Given the description of an element on the screen output the (x, y) to click on. 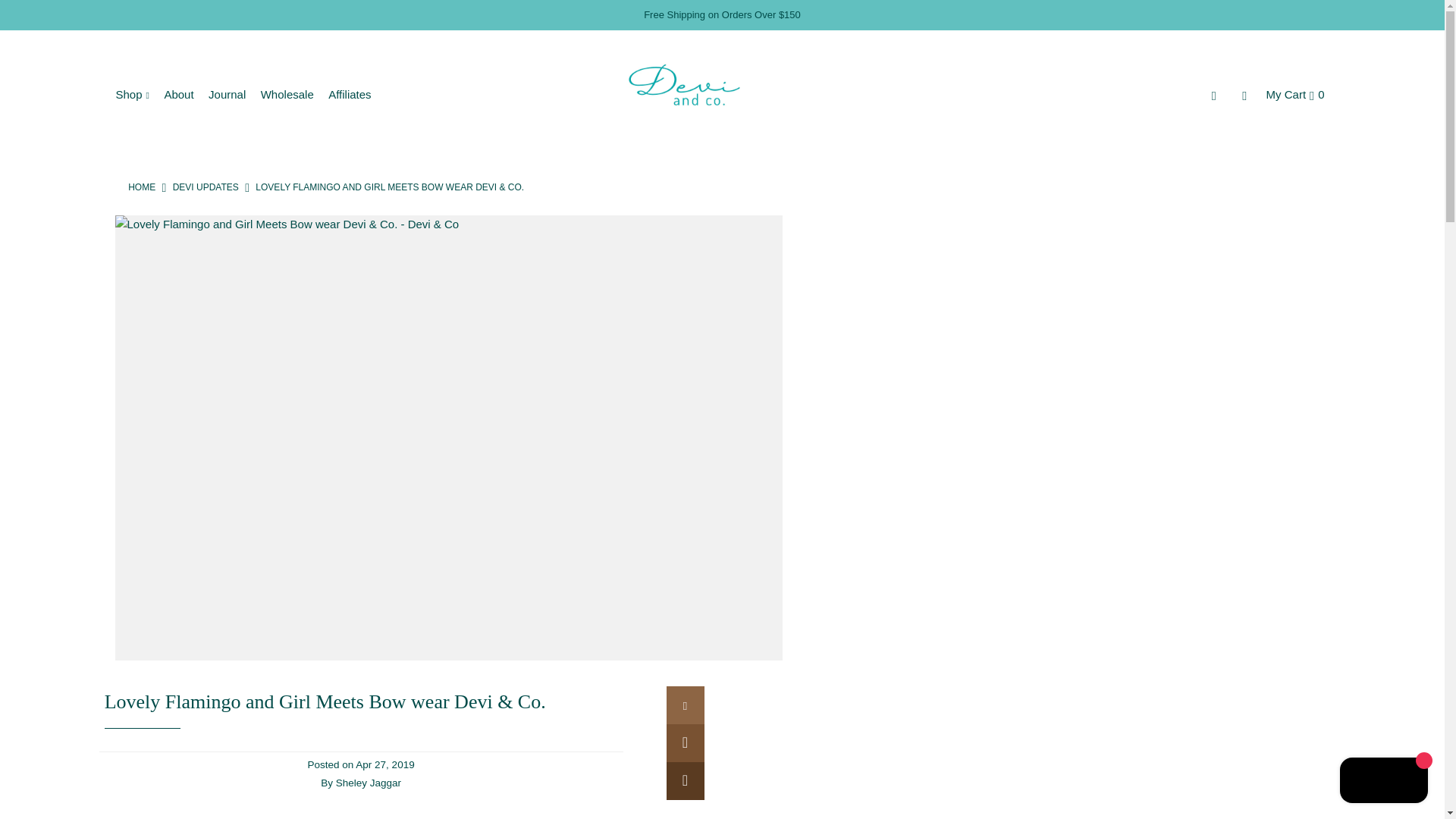
Share on Pinterest (684, 781)
Share on Twitter (684, 742)
Shop (137, 93)
Home (141, 186)
My Cart0 (1295, 94)
About (184, 93)
DEVI UPDATES (205, 186)
Wholesale (292, 93)
Share on Facebook (684, 704)
Journal (232, 93)
Affiliates (355, 93)
HOME (141, 186)
Shopify online store chat (1383, 781)
